Given the description of an element on the screen output the (x, y) to click on. 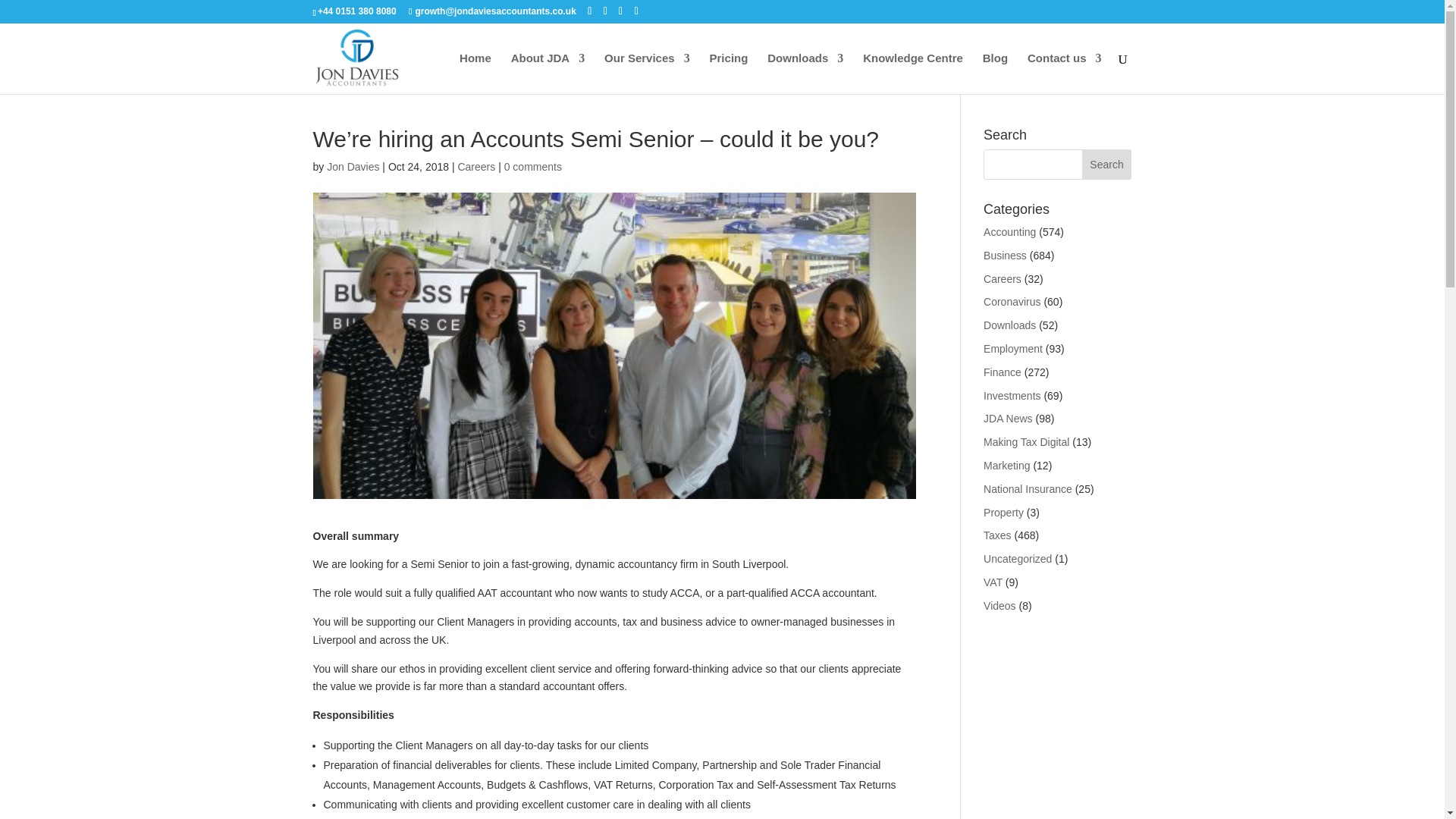
Our Services (647, 73)
Search (1106, 164)
Knowledge Centre (912, 73)
Posts by Jon Davies (352, 166)
Pricing (729, 73)
Downloads (805, 73)
About JDA (548, 73)
